Given the description of an element on the screen output the (x, y) to click on. 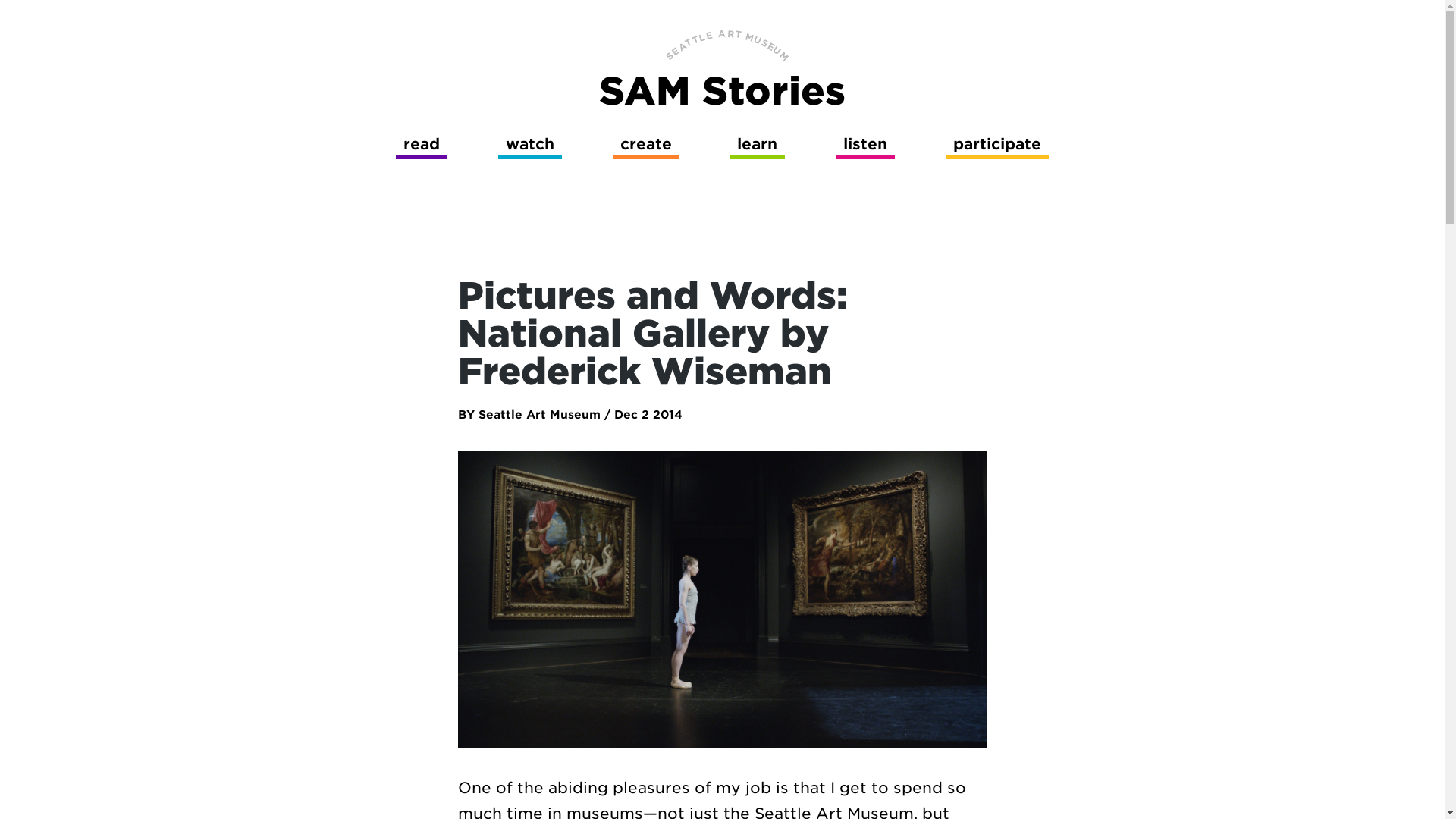
SAM Stories (721, 90)
watch (529, 143)
listen (865, 143)
read (421, 143)
Seattle Art Museum (536, 414)
learn (756, 143)
participate (996, 143)
create (645, 143)
